Given the description of an element on the screen output the (x, y) to click on. 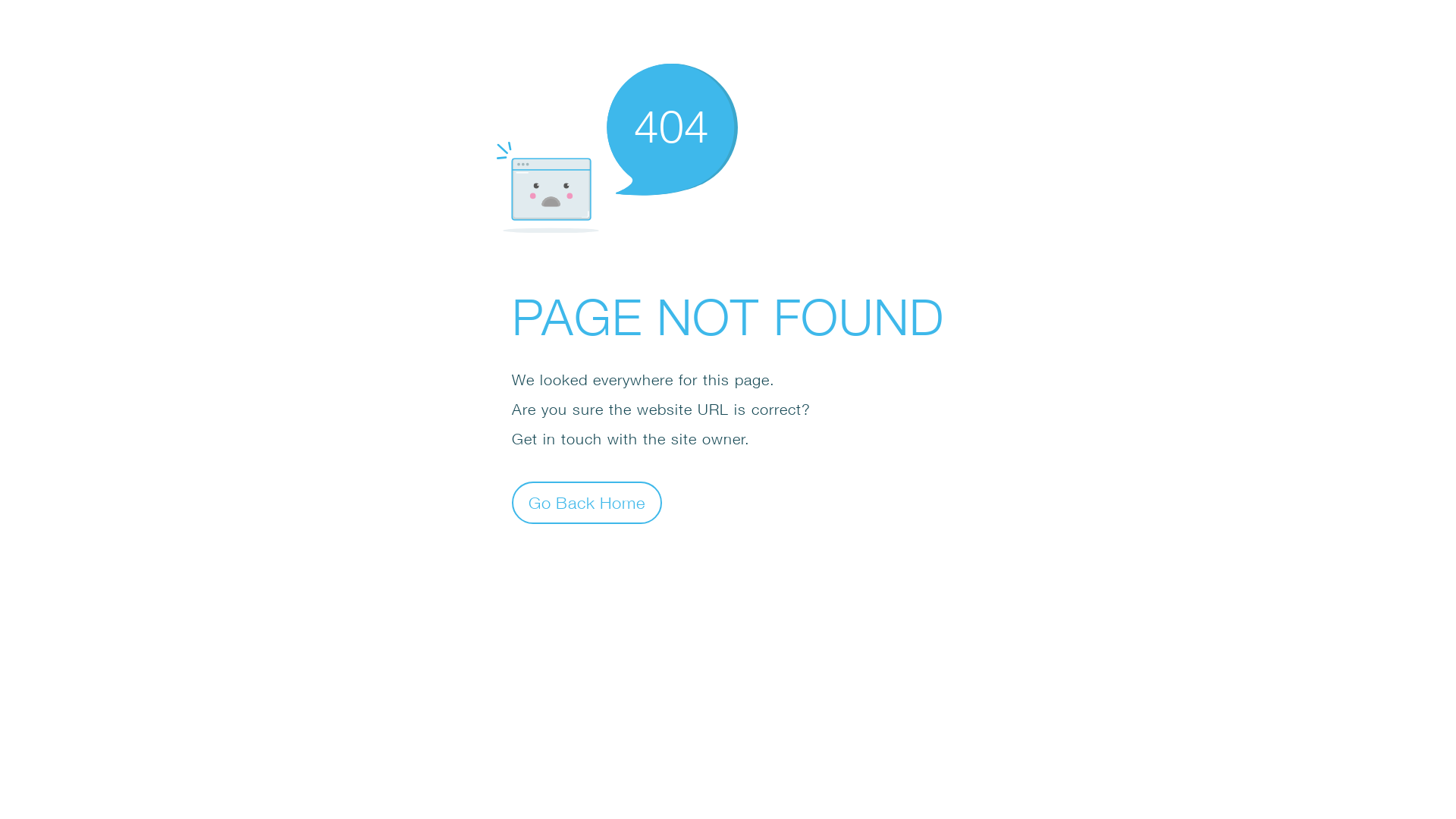
Go Back Home Element type: text (586, 502)
